Given the description of an element on the screen output the (x, y) to click on. 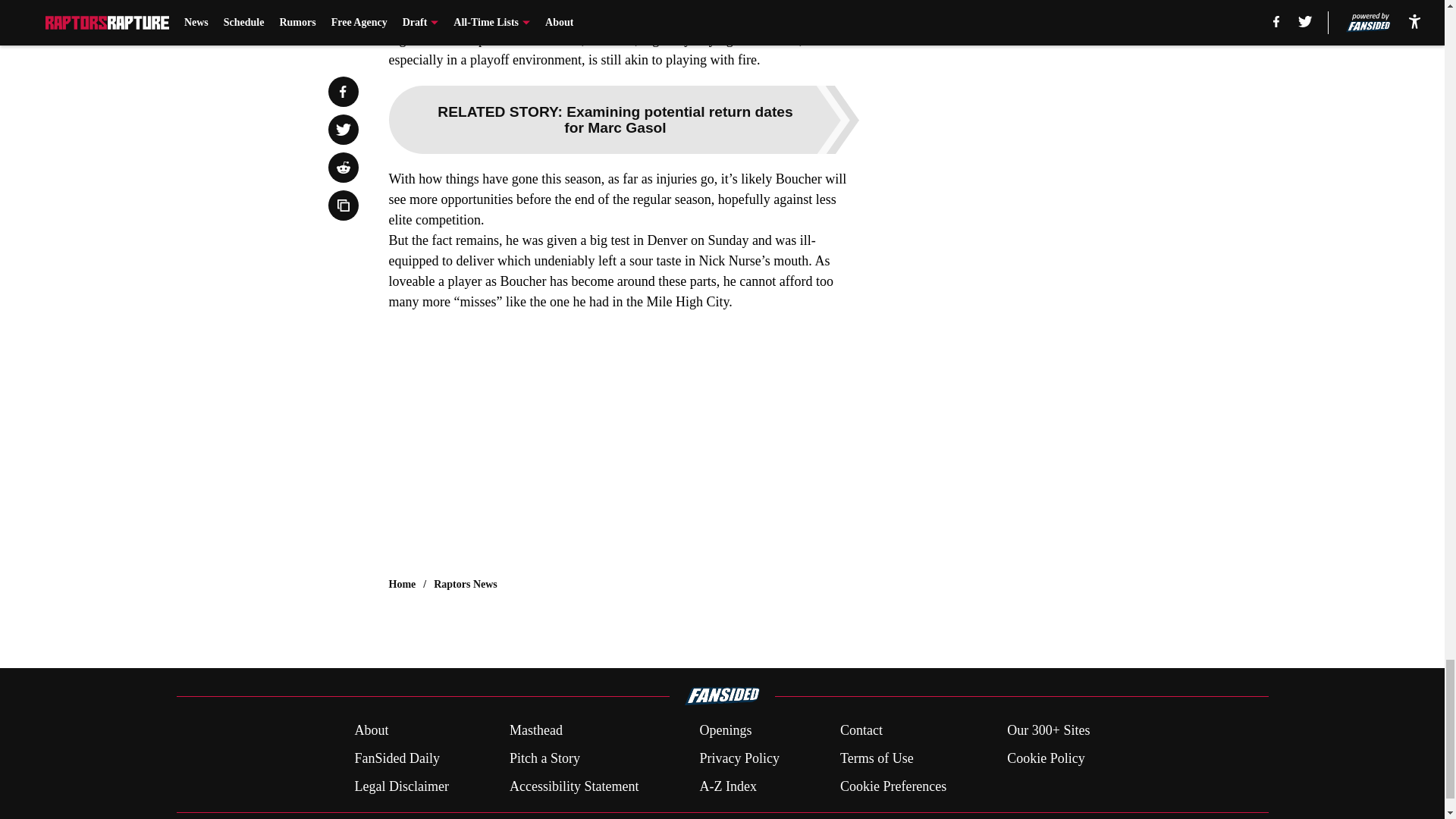
Home (401, 584)
